Given the description of an element on the screen output the (x, y) to click on. 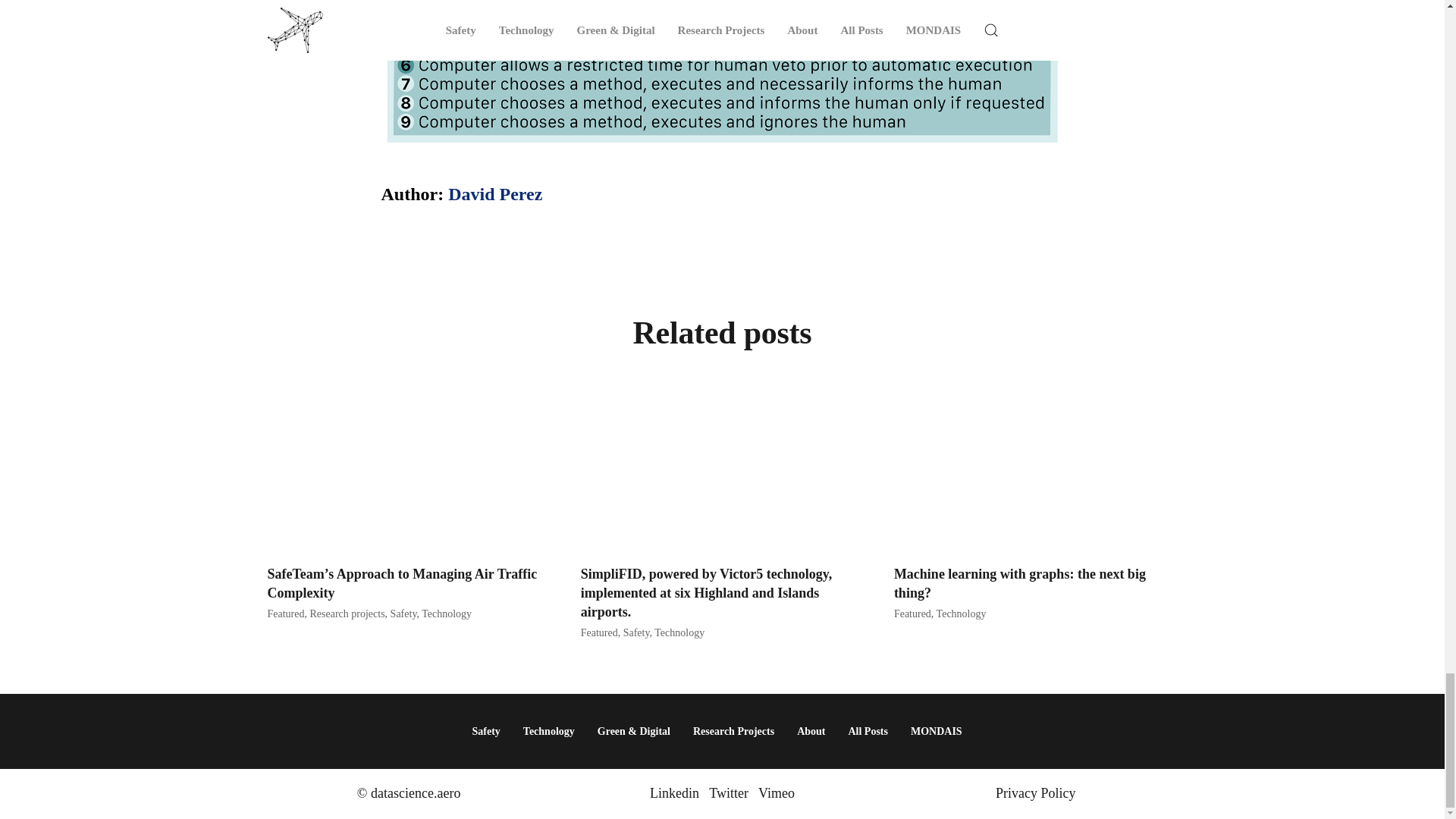
About (810, 731)
David Perez (494, 193)
Featured (285, 613)
Research Projects (733, 731)
All Posts (867, 731)
Featured (912, 613)
Machine learning with graphs: the next big thing? (1019, 583)
Featured (598, 632)
Safety (485, 731)
Research projects (346, 613)
Technology (678, 632)
Technology (446, 613)
Safety (403, 613)
Technology (961, 613)
